Given the description of an element on the screen output the (x, y) to click on. 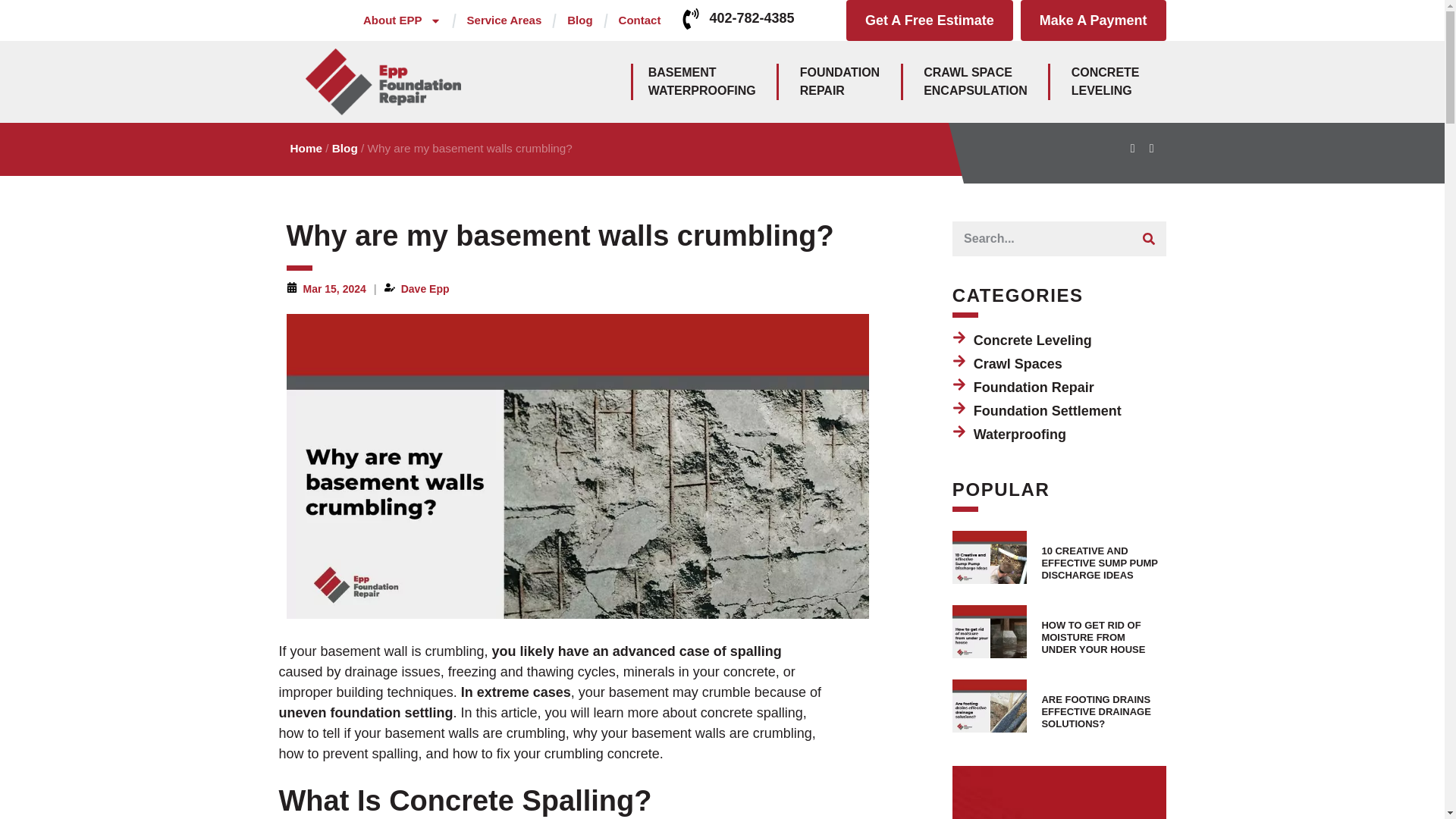
Get A Free Estimate (975, 81)
About EPP (929, 20)
Blog (401, 20)
402-782-4385 (579, 20)
Contact (751, 17)
Make A Payment (639, 20)
Service Areas (1093, 20)
